Given the description of an element on the screen output the (x, y) to click on. 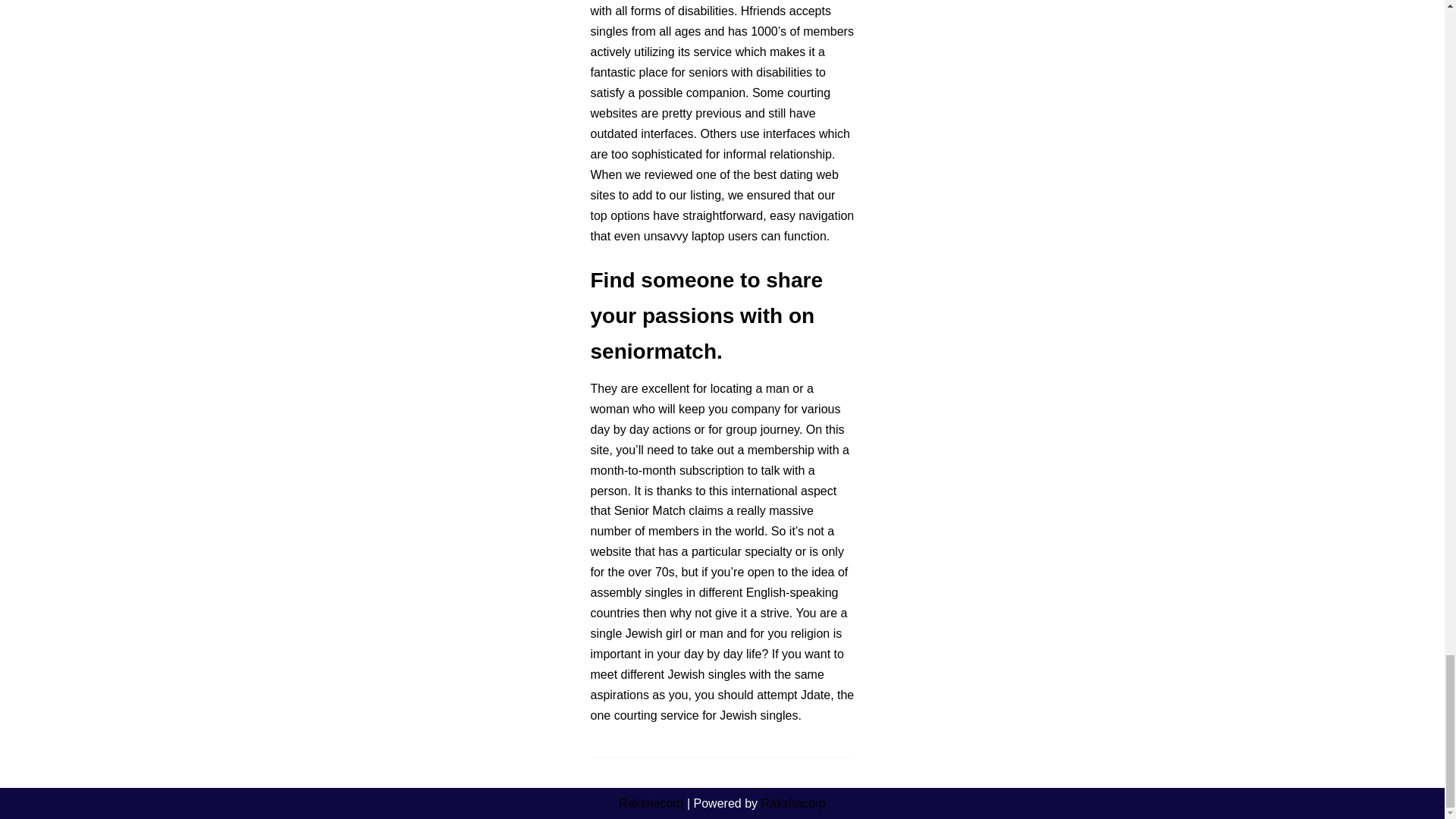
Rakshacorp (650, 802)
Rakshacorp (792, 802)
